Given the description of an element on the screen output the (x, y) to click on. 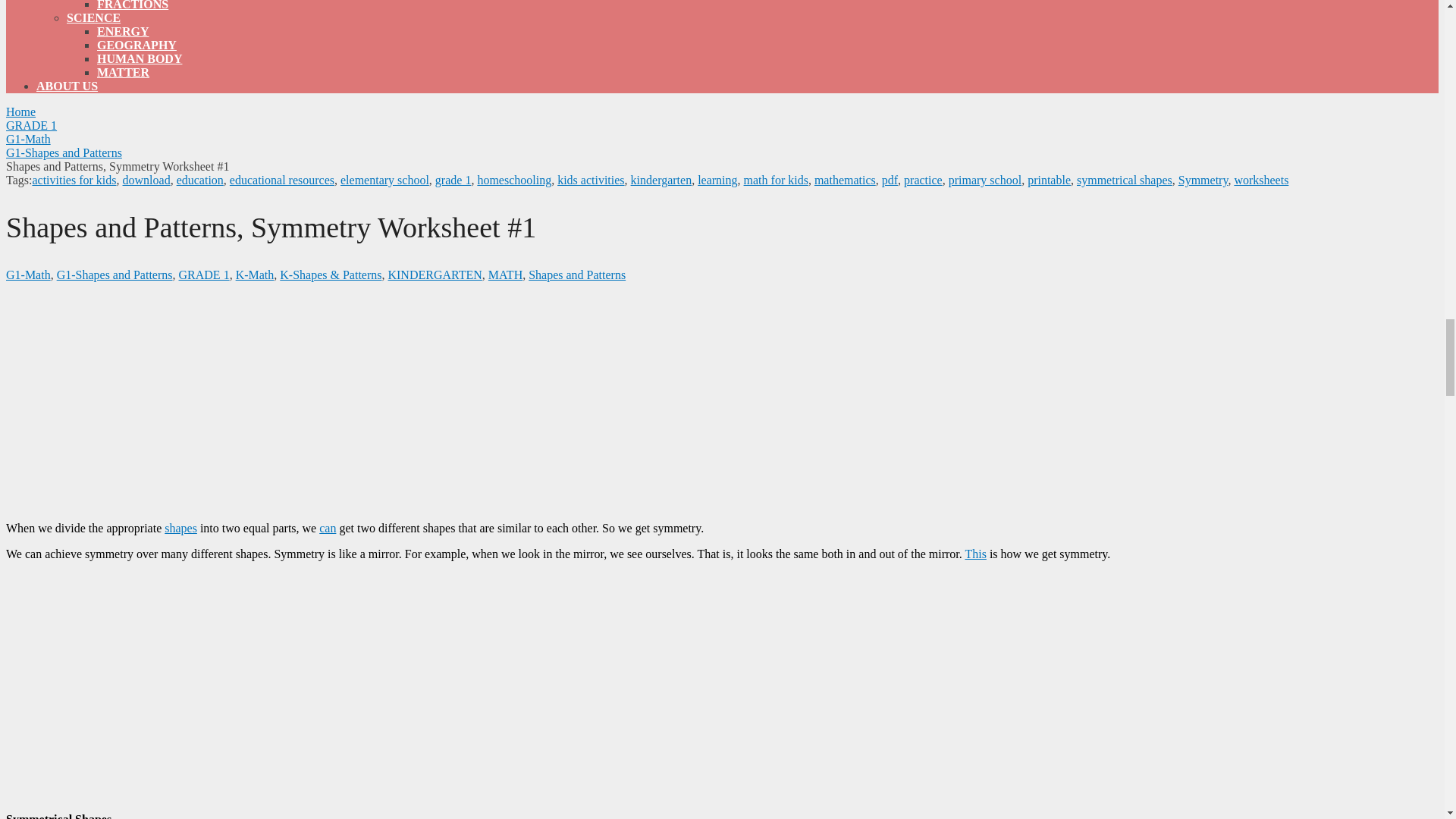
View all posts in G1-Shapes and Patterns (114, 274)
View all posts in MATH (504, 274)
View all posts in GRADE 1 (204, 274)
View all posts in G1-Math (27, 274)
View all posts in K-Math (255, 274)
View all posts in Shapes and Patterns (577, 274)
View all posts in KINDERGARTEN (434, 274)
